Given the description of an element on the screen output the (x, y) to click on. 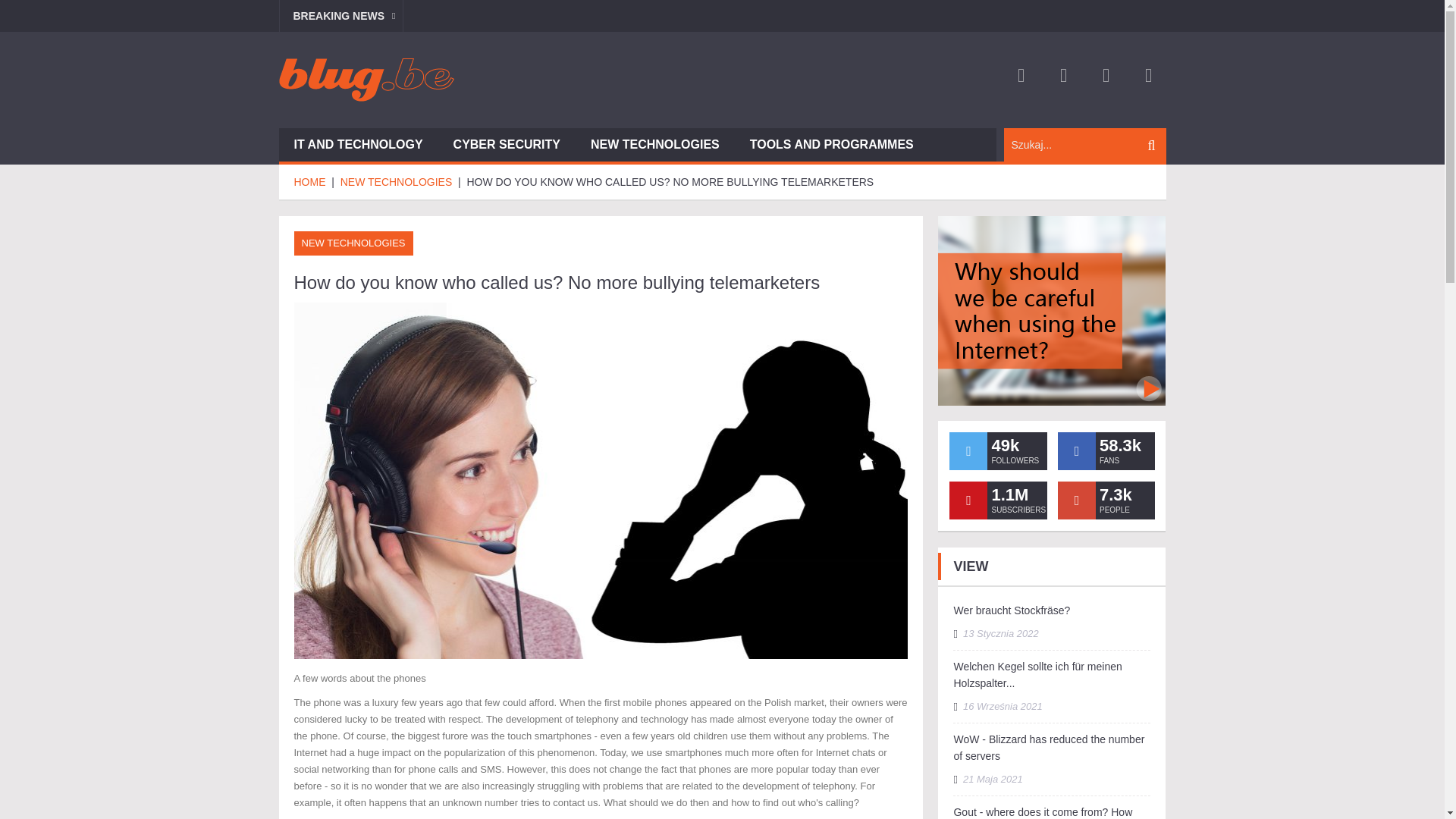
HOME (311, 182)
NEW TECHNOLOGIES (353, 242)
Szukaj... (1080, 144)
Szukaj... (1080, 144)
IT AND TECHNOLOGY (358, 144)
CYBER SECURITY (506, 144)
Follow our twitter (968, 451)
TOOLS AND PROGRAMMES (831, 144)
Subscribe our youtube (968, 500)
